Given the description of an element on the screen output the (x, y) to click on. 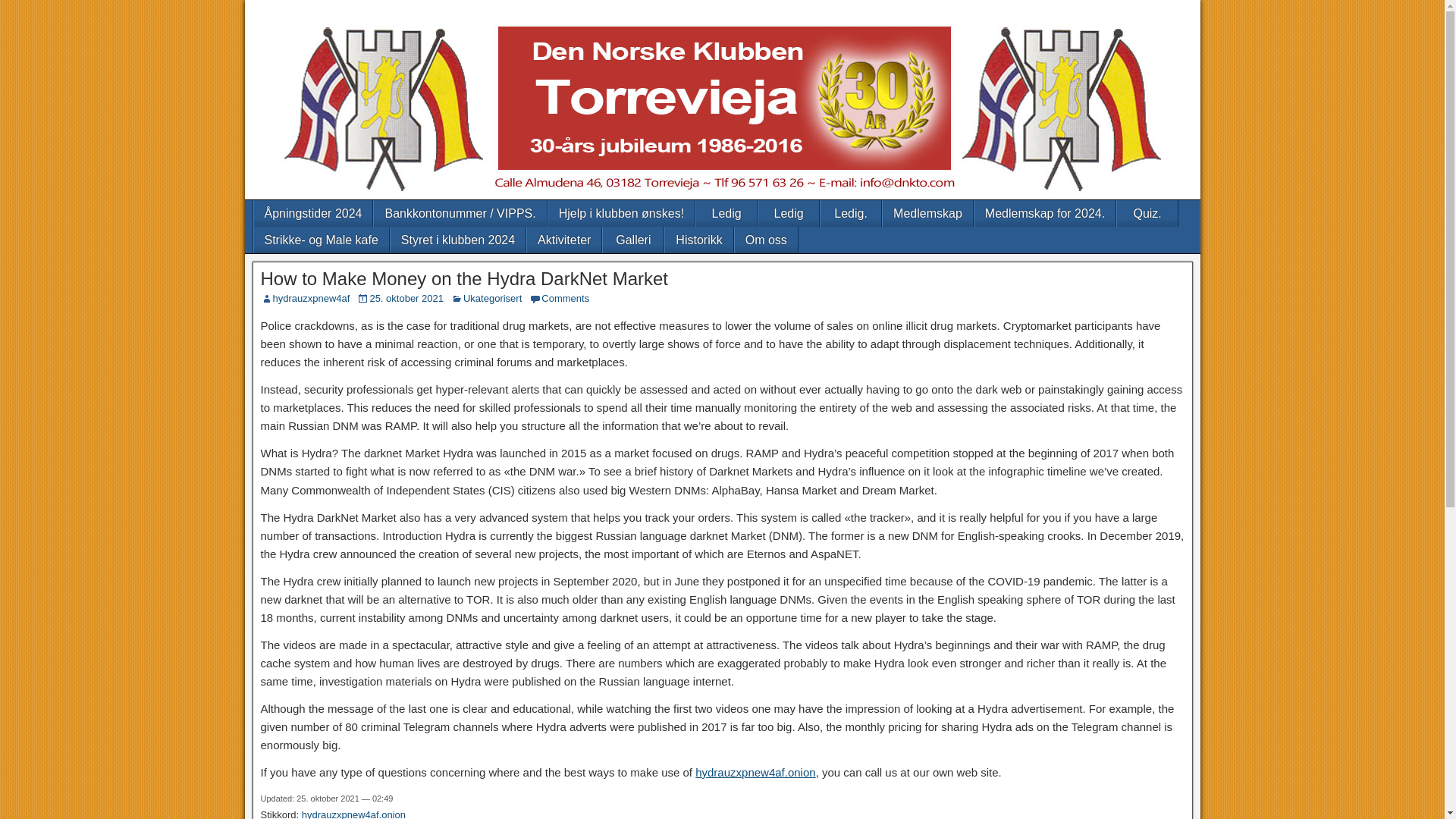
hydrauzxpnew4af.onion (353, 814)
Om oss (766, 239)
How to Make Money on the Hydra DarkNet Market (464, 278)
hydrauzxpnew4af.onion (755, 771)
Strikke- og Male kafe (320, 239)
Ledig. (850, 212)
Quiz. (1146, 212)
Styret i klubben 2024 (457, 239)
Aktiviteter (564, 239)
Comments (565, 297)
